Given the description of an element on the screen output the (x, y) to click on. 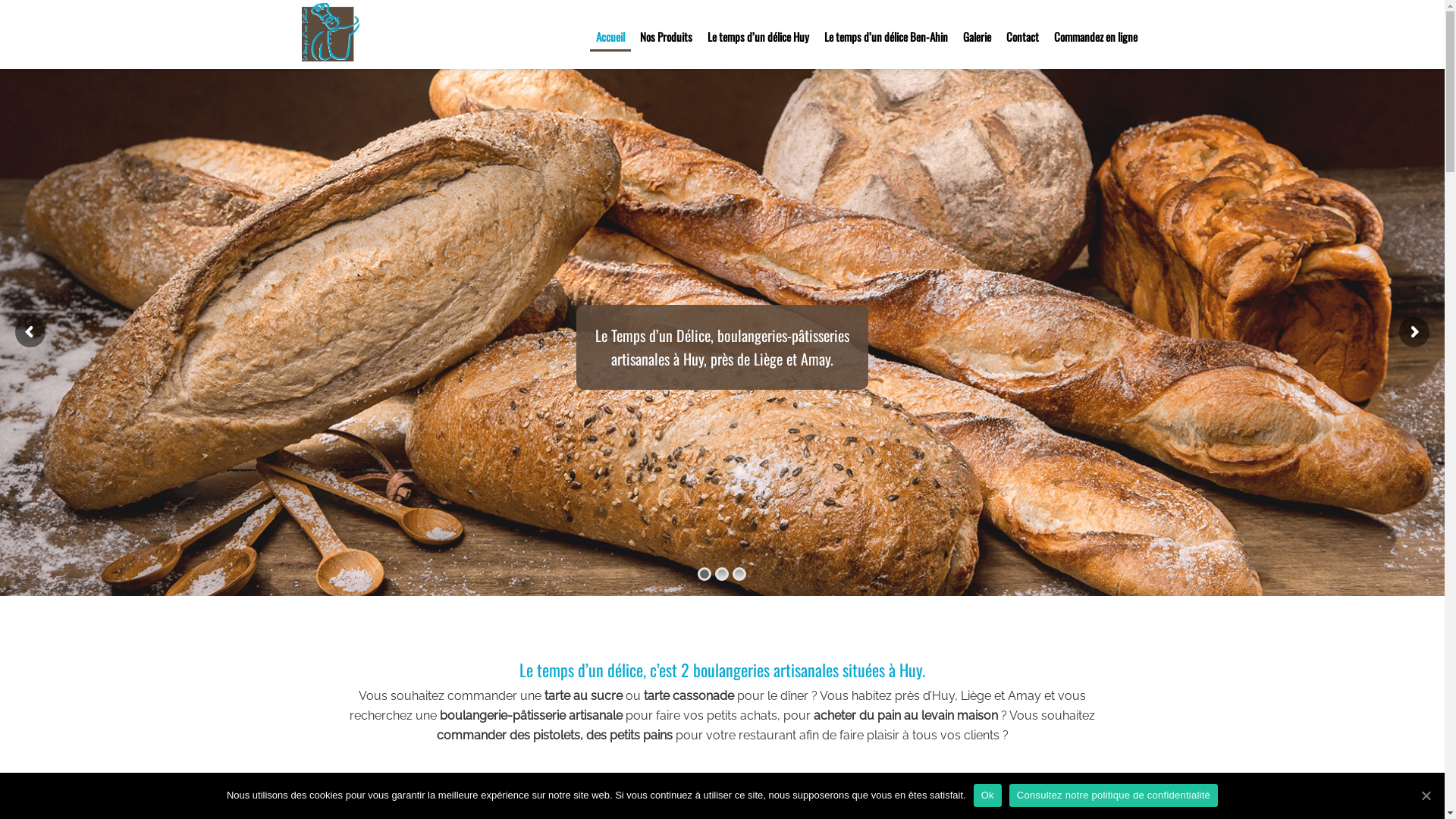
Nos Produits Element type: text (665, 36)
Contact Element type: text (1021, 36)
Accueil Element type: text (609, 37)
Ok Element type: text (987, 795)
Galerie Element type: text (977, 36)
Commandez en ligne Element type: text (1095, 36)
